Given the description of an element on the screen output the (x, y) to click on. 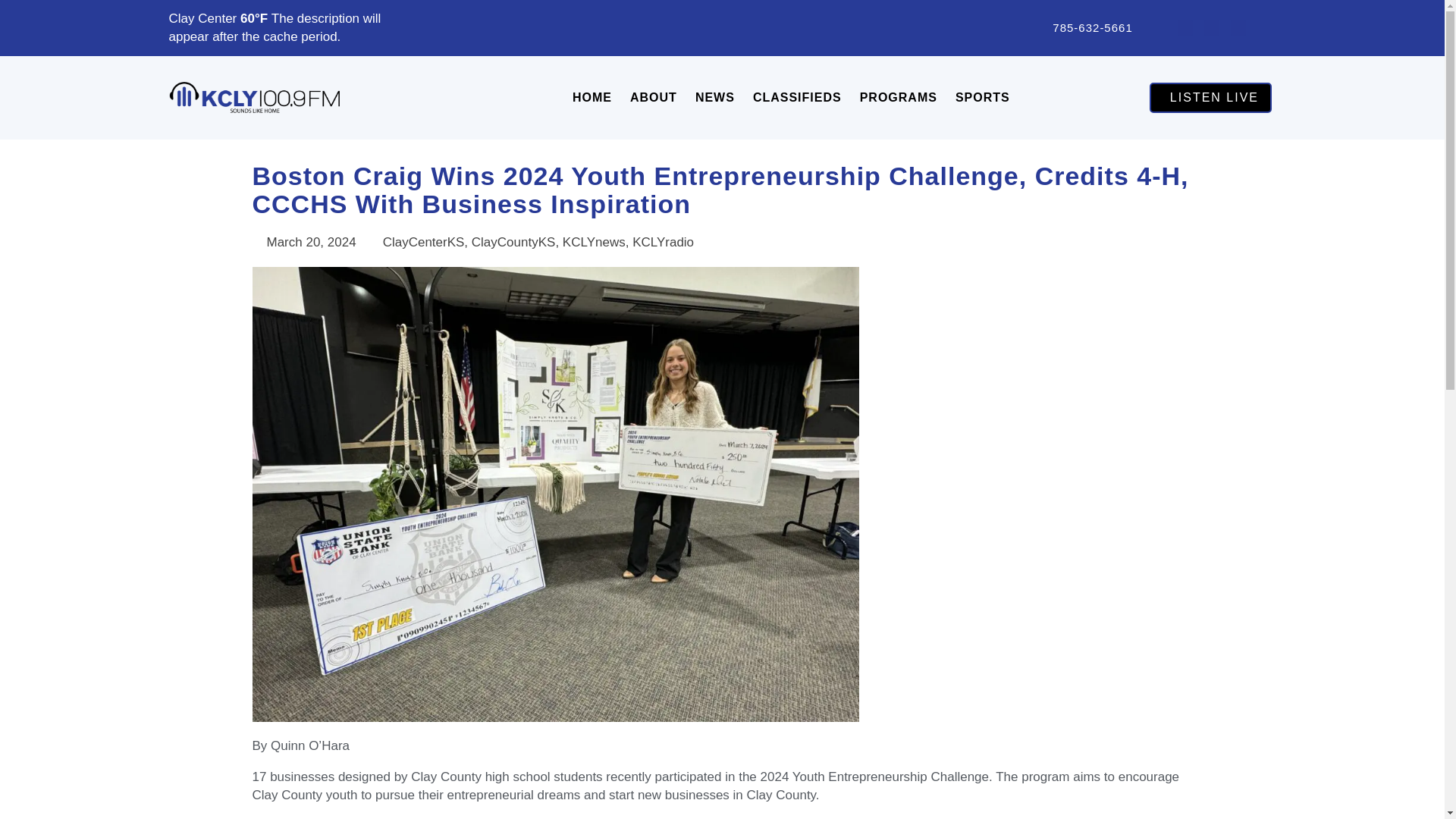
CLASSIFIEDS (797, 97)
HOME (592, 97)
ABOUT (653, 97)
NEWS (714, 97)
PROGRAMS (898, 97)
785-632-5661 (1079, 27)
SPORTS (982, 97)
